Given the description of an element on the screen output the (x, y) to click on. 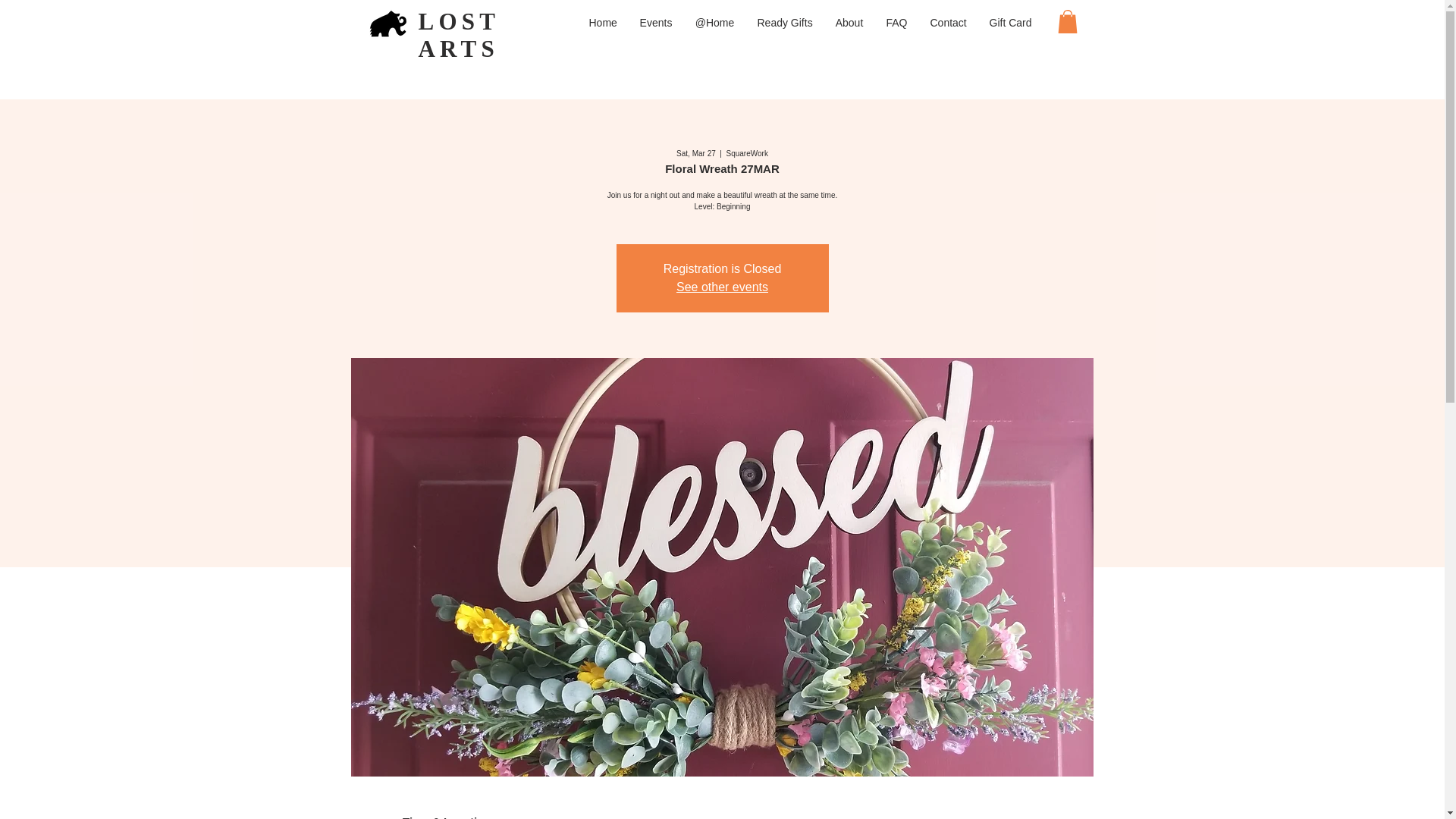
Ready Gifts (784, 22)
Home (603, 22)
LOST ARTS (459, 35)
About (849, 22)
FAQ (896, 22)
Contact (948, 22)
Events (654, 22)
Gift Card (1010, 22)
See other events (722, 286)
